Given the description of an element on the screen output the (x, y) to click on. 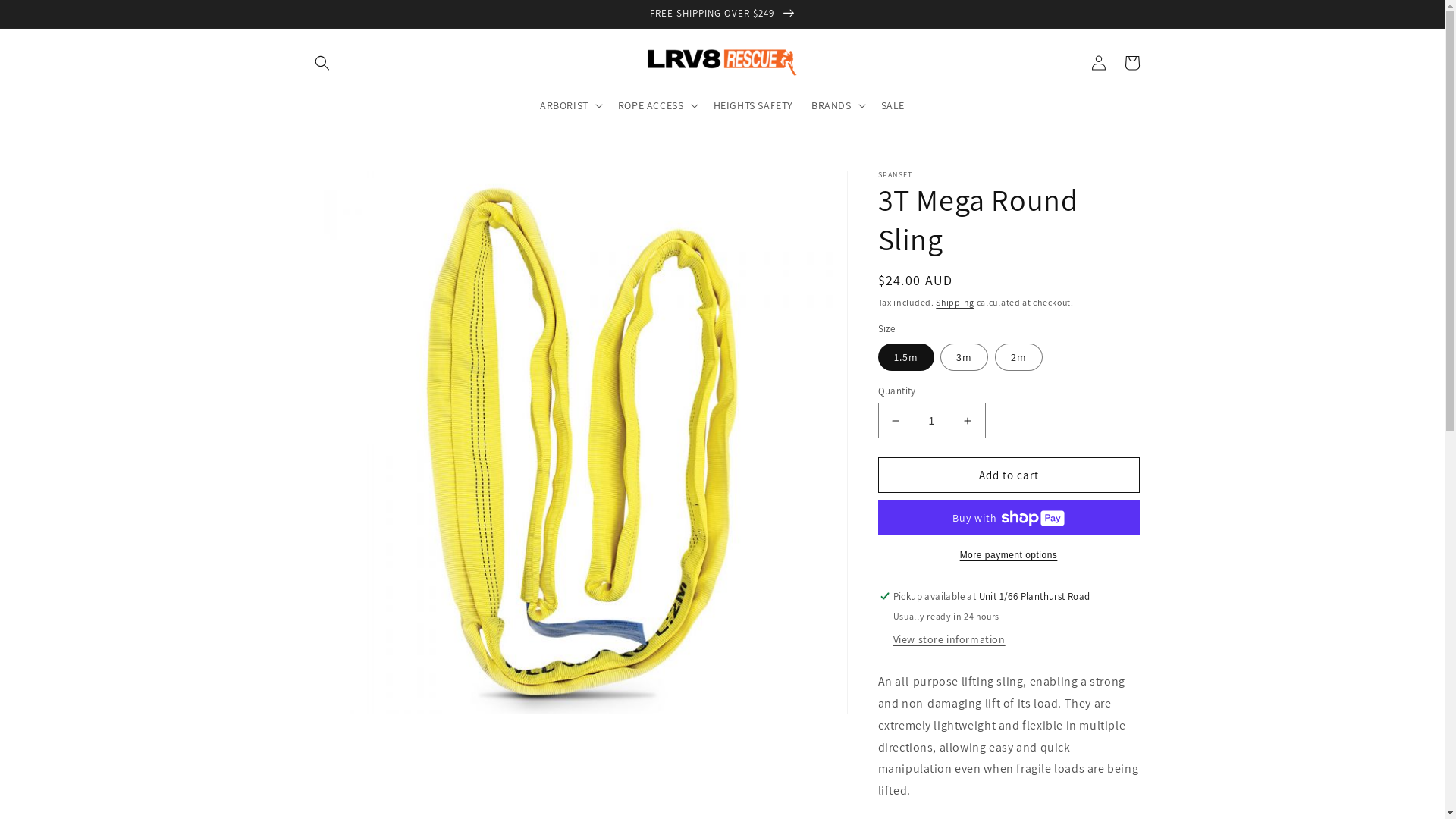
More payment options Element type: text (1008, 554)
Decrease quantity for 3T Mega Round Sling Element type: text (895, 420)
Cart Element type: text (1131, 62)
Skip to product information Element type: text (350, 187)
Log in Element type: text (1097, 62)
Increase quantity for 3T Mega Round Sling Element type: text (967, 420)
HEIGHTS SAFETY Element type: text (752, 105)
Shipping Element type: text (954, 301)
View store information Element type: text (949, 639)
Add to cart Element type: text (1008, 474)
FREE SHIPPING OVER $249 Element type: text (722, 14)
SALE Element type: text (892, 105)
